Given the description of an element on the screen output the (x, y) to click on. 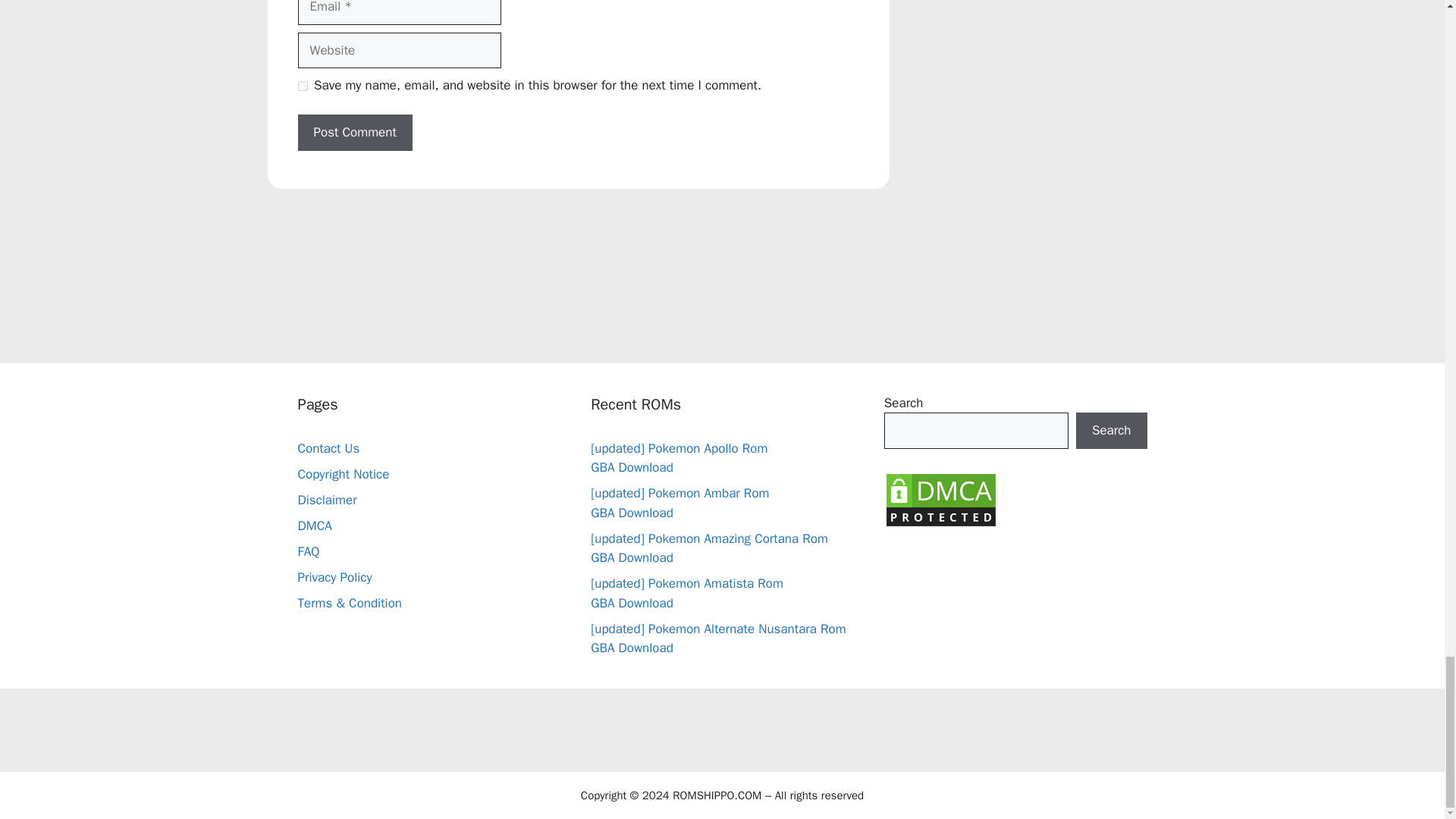
yes (302, 85)
Post Comment (354, 132)
DMCA.com Protection Status (940, 524)
